Given the description of an element on the screen output the (x, y) to click on. 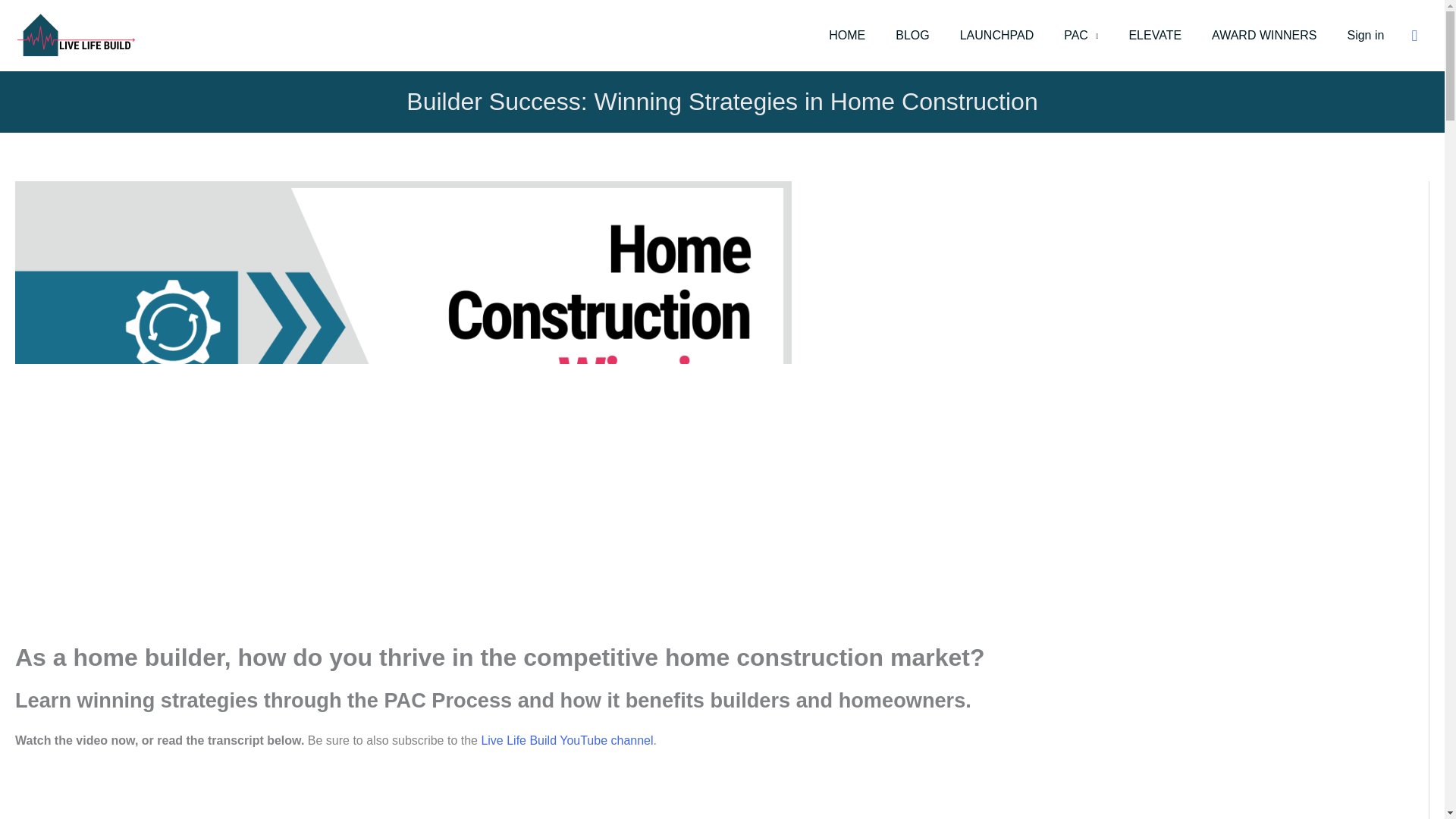
Live Life Build YouTube channel (566, 739)
PAC (1080, 35)
BLOG (911, 35)
Sign in (1365, 35)
HOME (846, 35)
AWARD WINNERS (1264, 35)
LAUNCHPAD (996, 35)
ELEVATE (1154, 35)
